Given the description of an element on the screen output the (x, y) to click on. 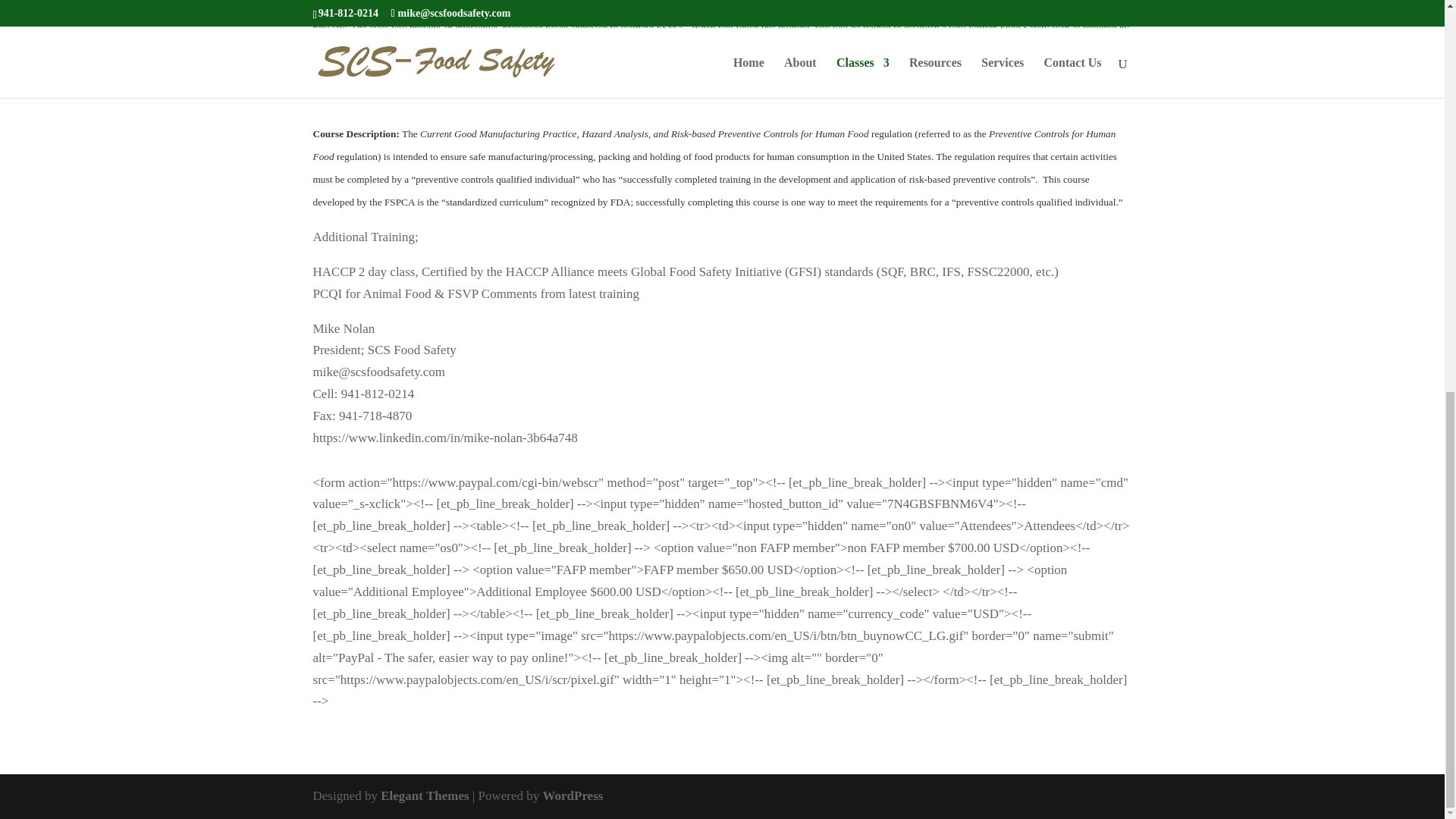
Elegant Themes (424, 795)
Premium WordPress Themes (424, 795)
WordPress (571, 795)
